Given the description of an element on the screen output the (x, y) to click on. 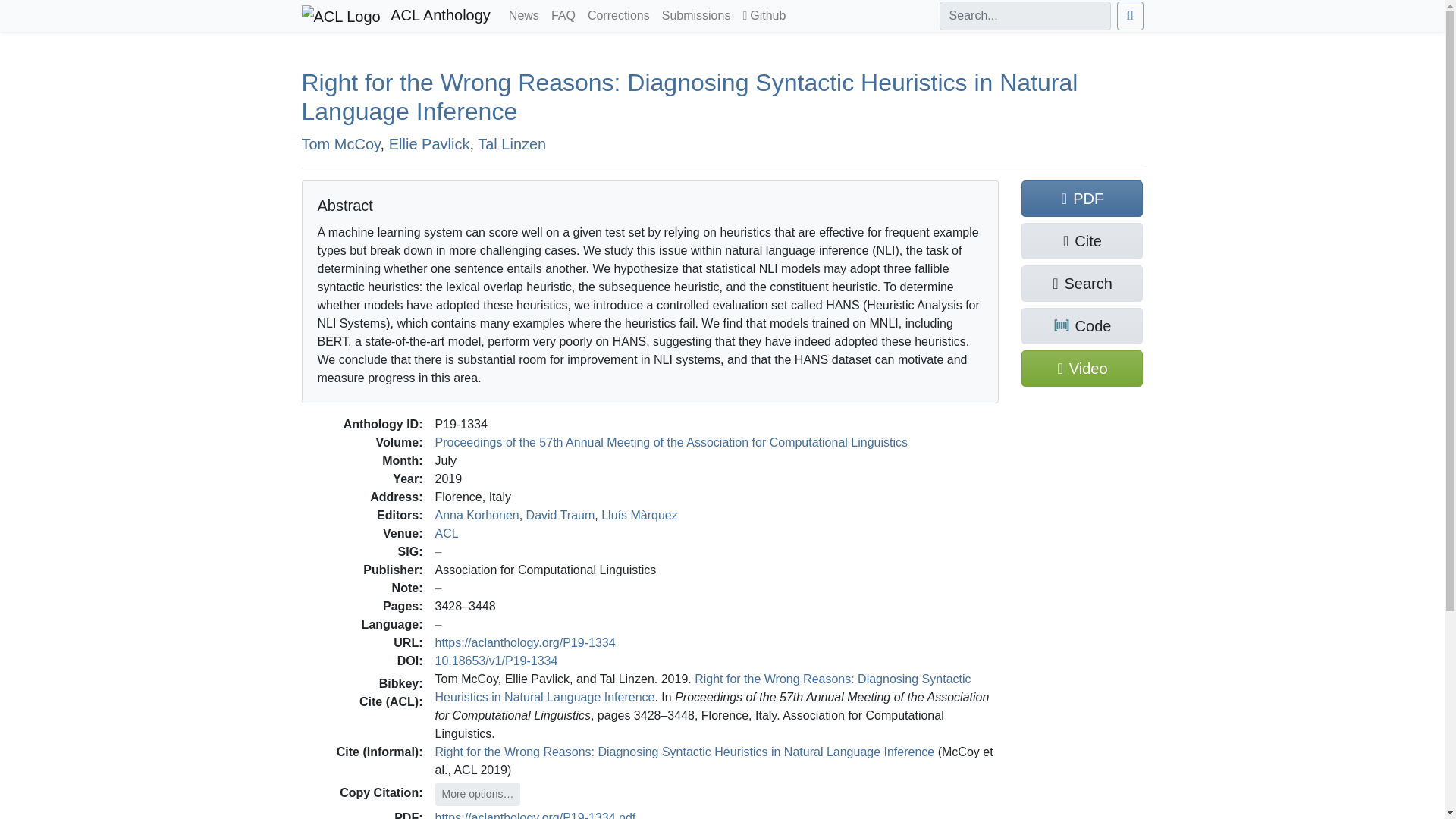
Github (764, 15)
Ellie Pavlick (429, 143)
To the current version of the paper by DOI (496, 659)
Anna Korhonen (477, 513)
ACL (446, 532)
ACL Anthology (395, 15)
Video (1082, 368)
David Traum (560, 513)
